Given the description of an element on the screen output the (x, y) to click on. 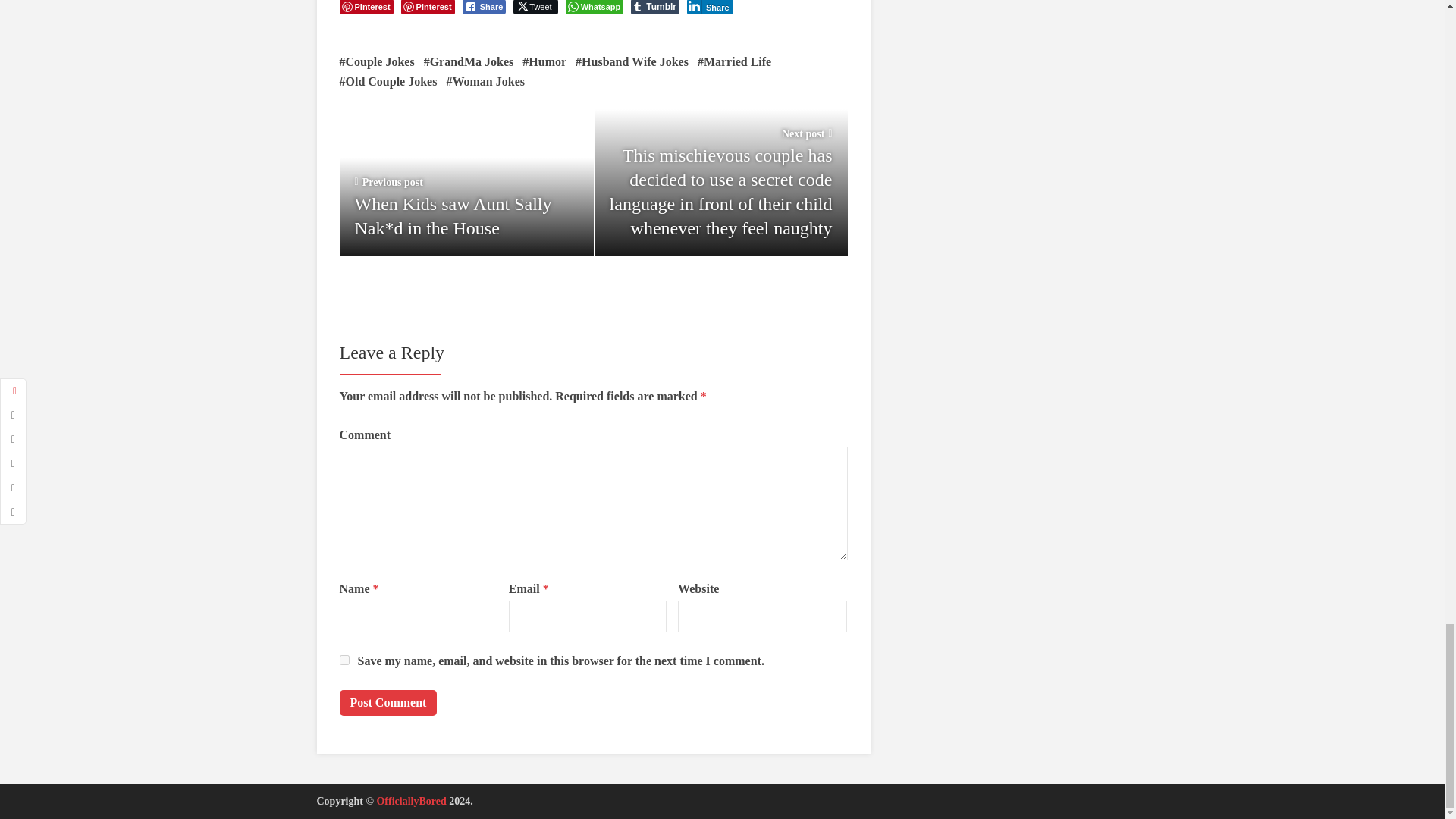
Pinterest (427, 7)
Husband Wife Jokes (631, 62)
GrandMa Jokes (468, 62)
yes (344, 660)
Married Life (734, 62)
Share (484, 7)
Woman Jokes (484, 81)
Post Comment (388, 702)
Old Couple Jokes (388, 81)
